Given the description of an element on the screen output the (x, y) to click on. 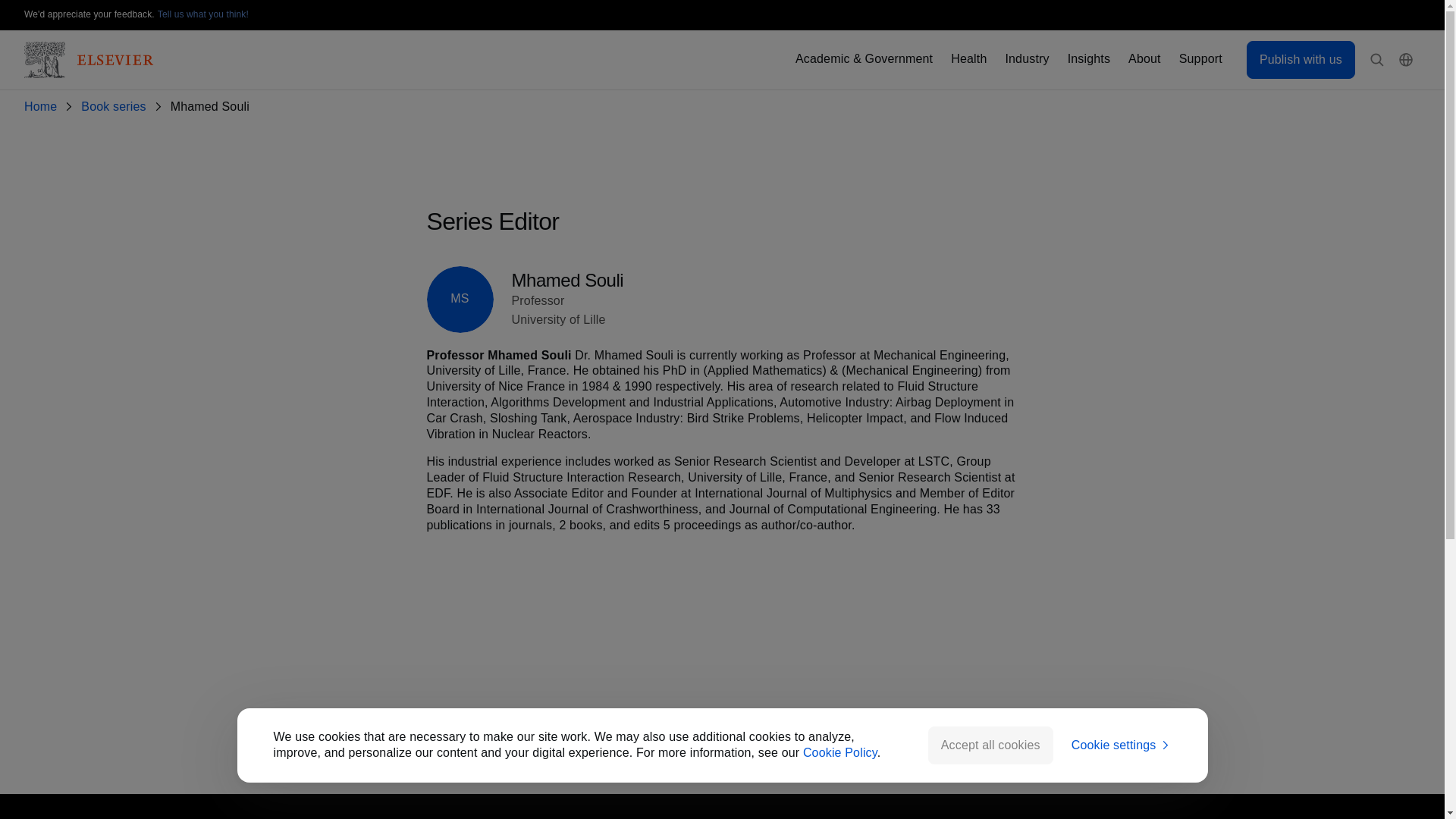
Cookie Policy (840, 752)
Home (43, 107)
Cookie settings (1121, 745)
Insights (1088, 59)
Publish with us (1300, 59)
Industry (1026, 59)
Open Search (1376, 59)
Support (1201, 59)
Location Selector (1406, 59)
About (1144, 59)
Book series (116, 107)
Accept all cookies (990, 745)
Health (968, 59)
